Given the description of an element on the screen output the (x, y) to click on. 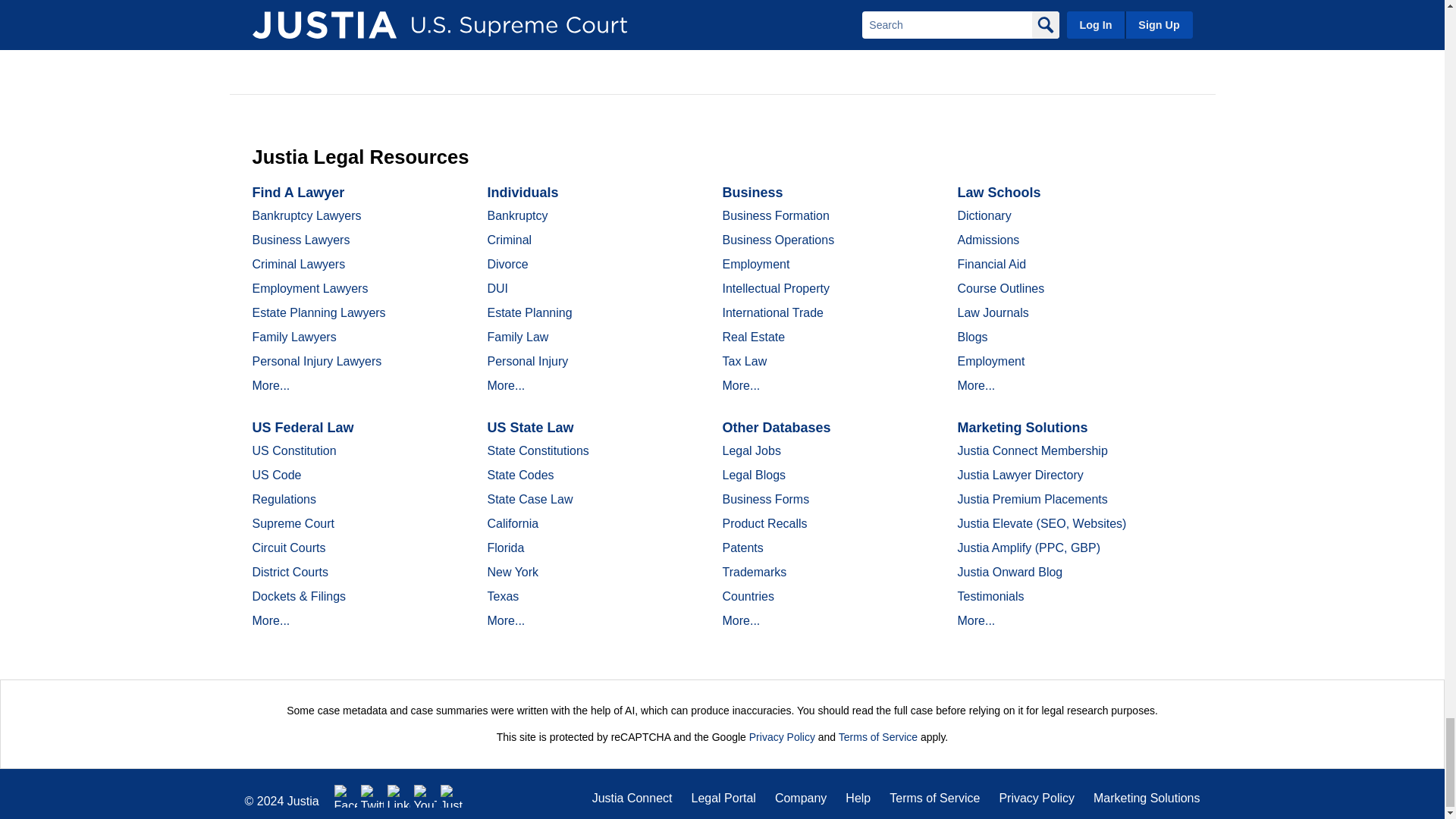
Twitter (372, 795)
YouTube (424, 795)
LinkedIn (398, 795)
Facebook (345, 795)
Justia Lawyer Directory (452, 795)
